Given the description of an element on the screen output the (x, y) to click on. 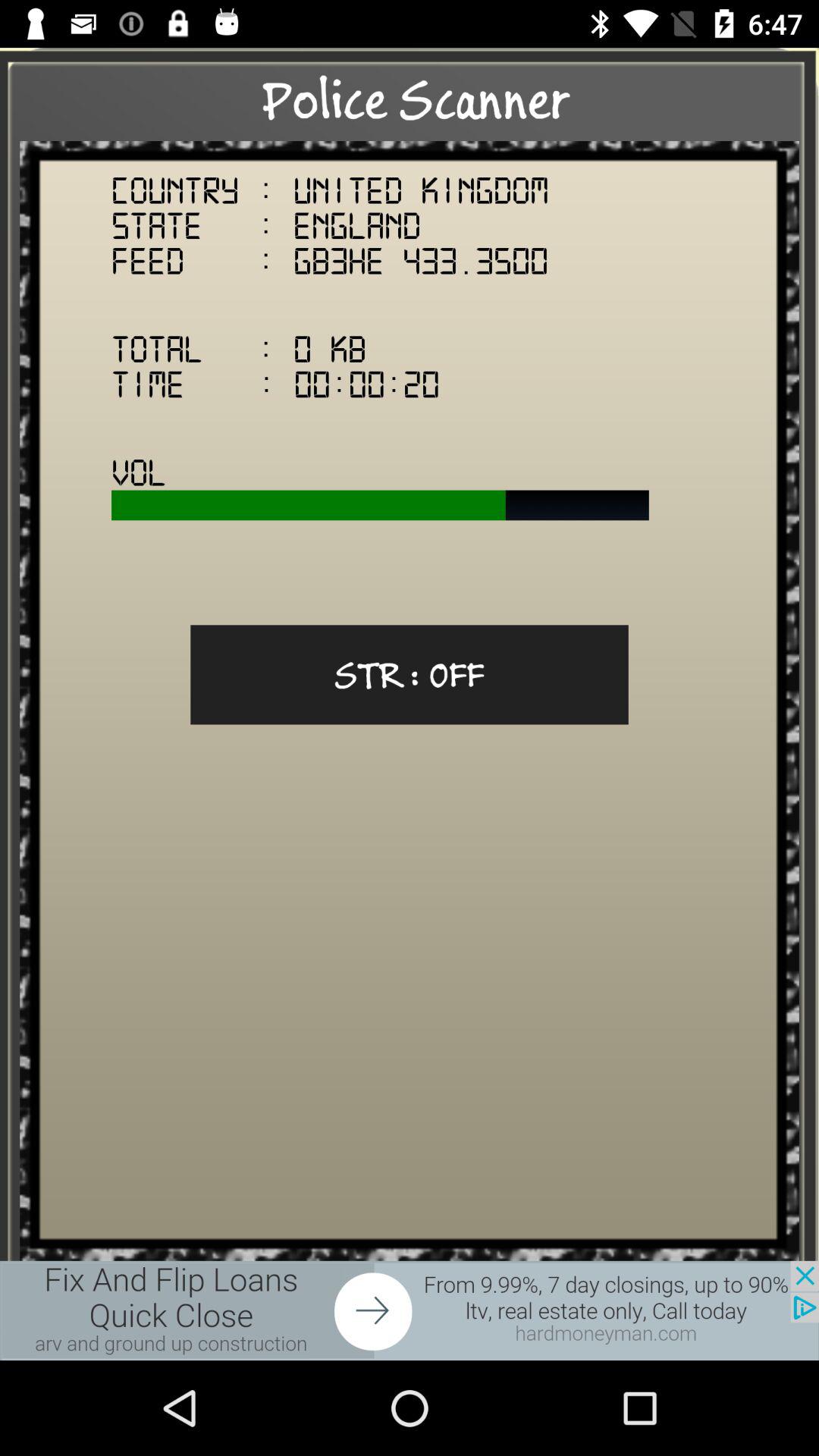
showing advertisements (409, 1310)
